Given the description of an element on the screen output the (x, y) to click on. 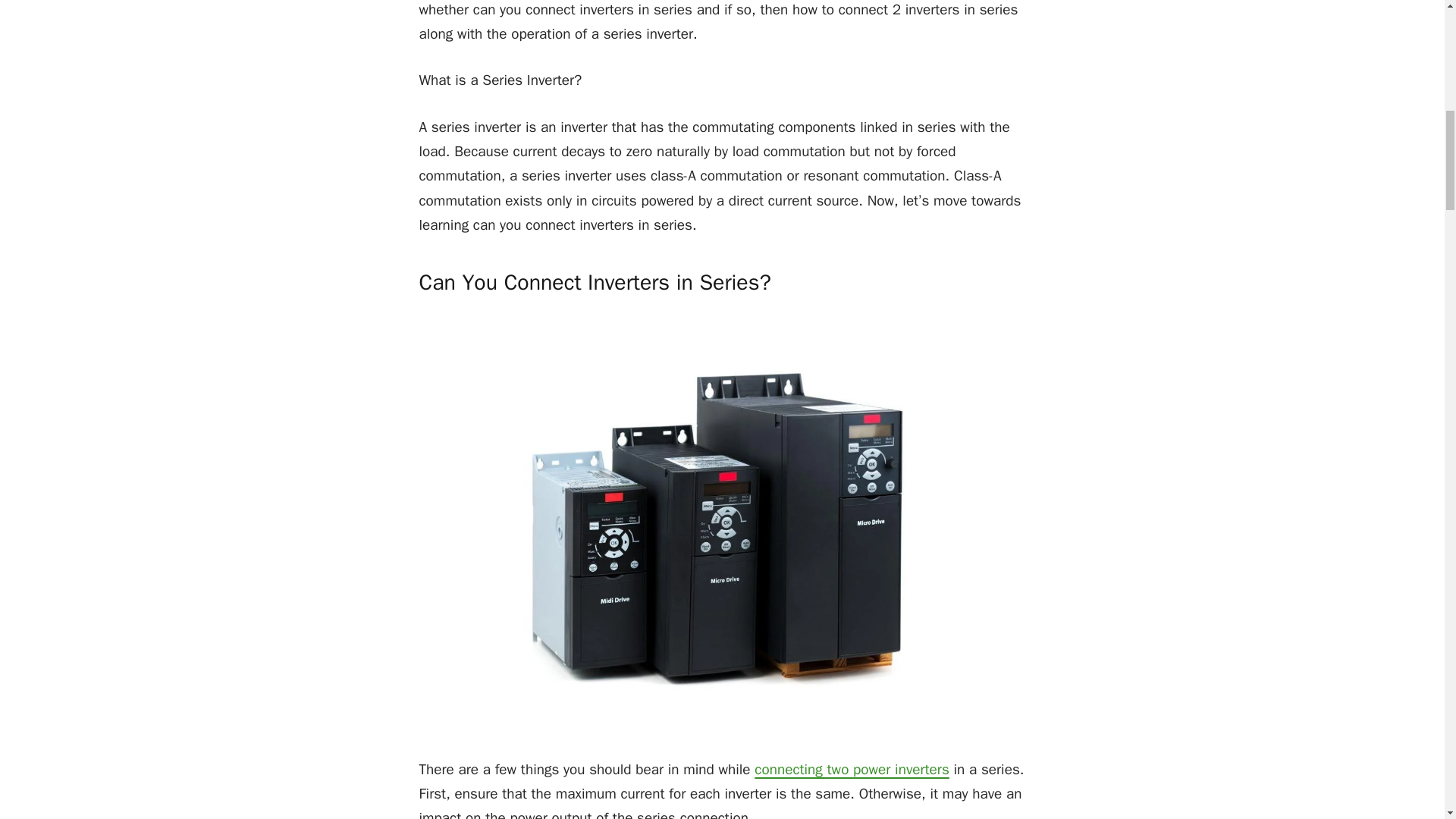
connecting two power inverters (851, 769)
